Given the description of an element on the screen output the (x, y) to click on. 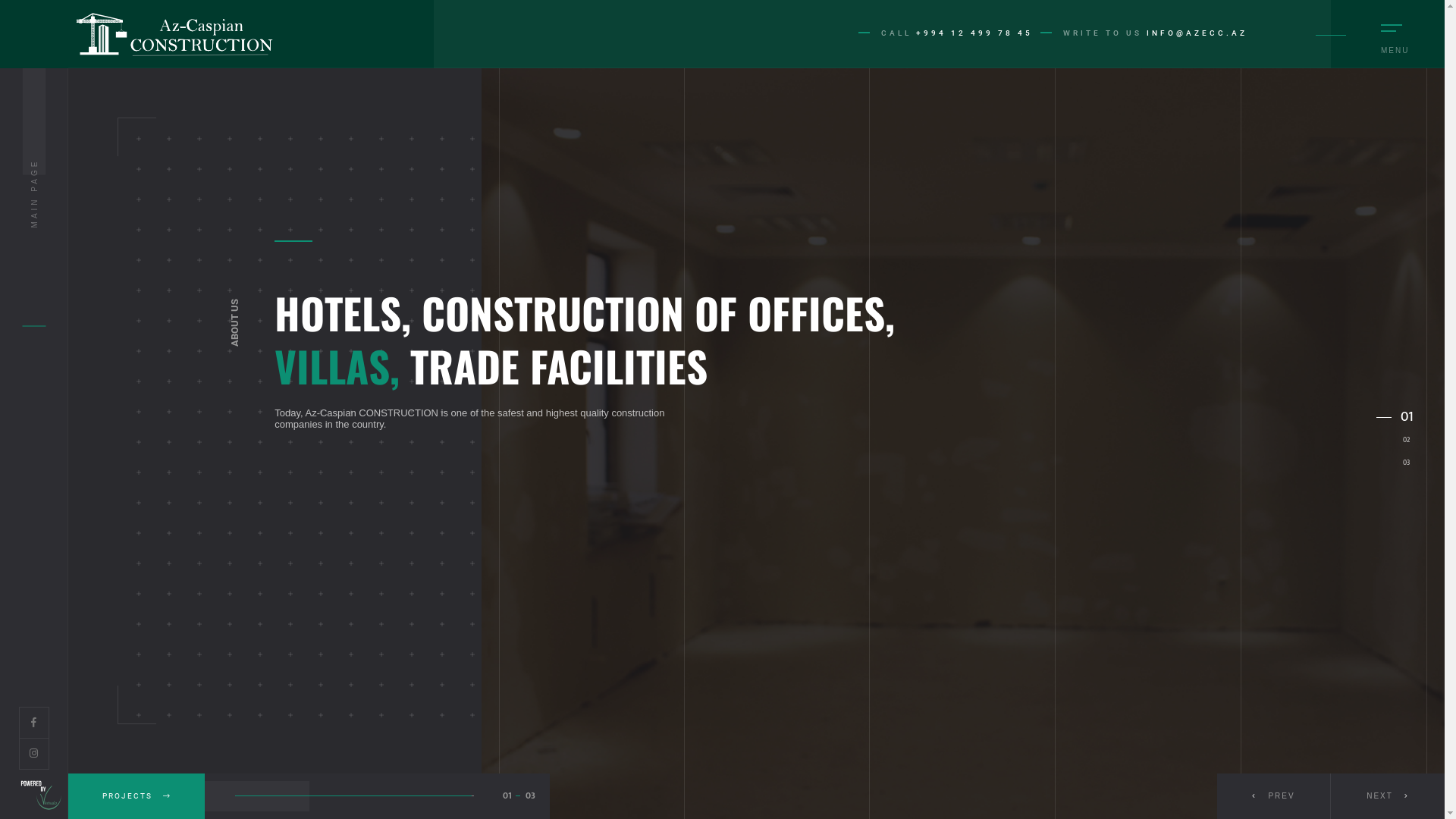
+994 12 499 78 45 Element type: text (974, 32)
INFO@AZECC.AZ Element type: text (1196, 32)
